Given the description of an element on the screen output the (x, y) to click on. 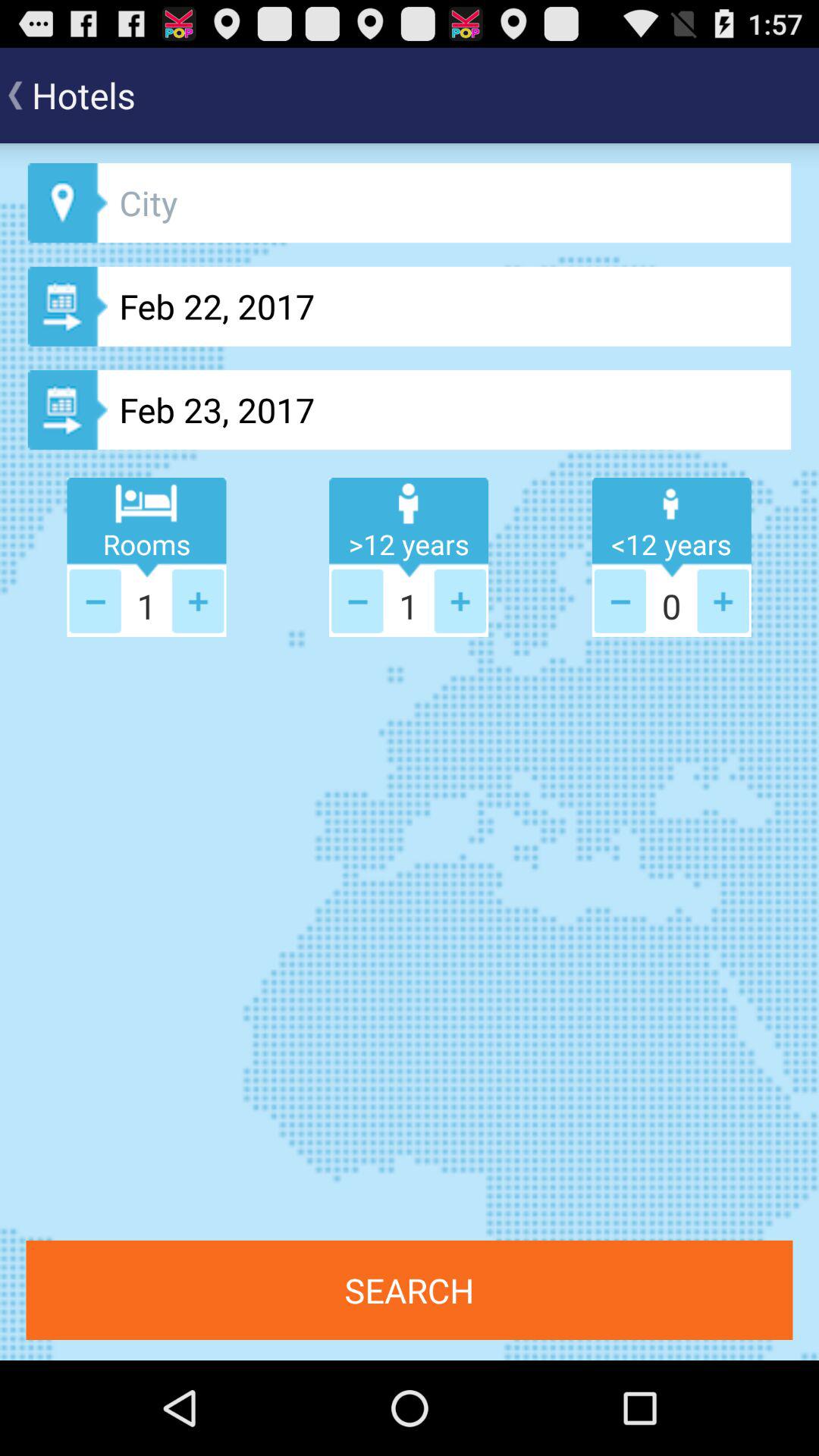
less button (357, 601)
